Given the description of an element on the screen output the (x, y) to click on. 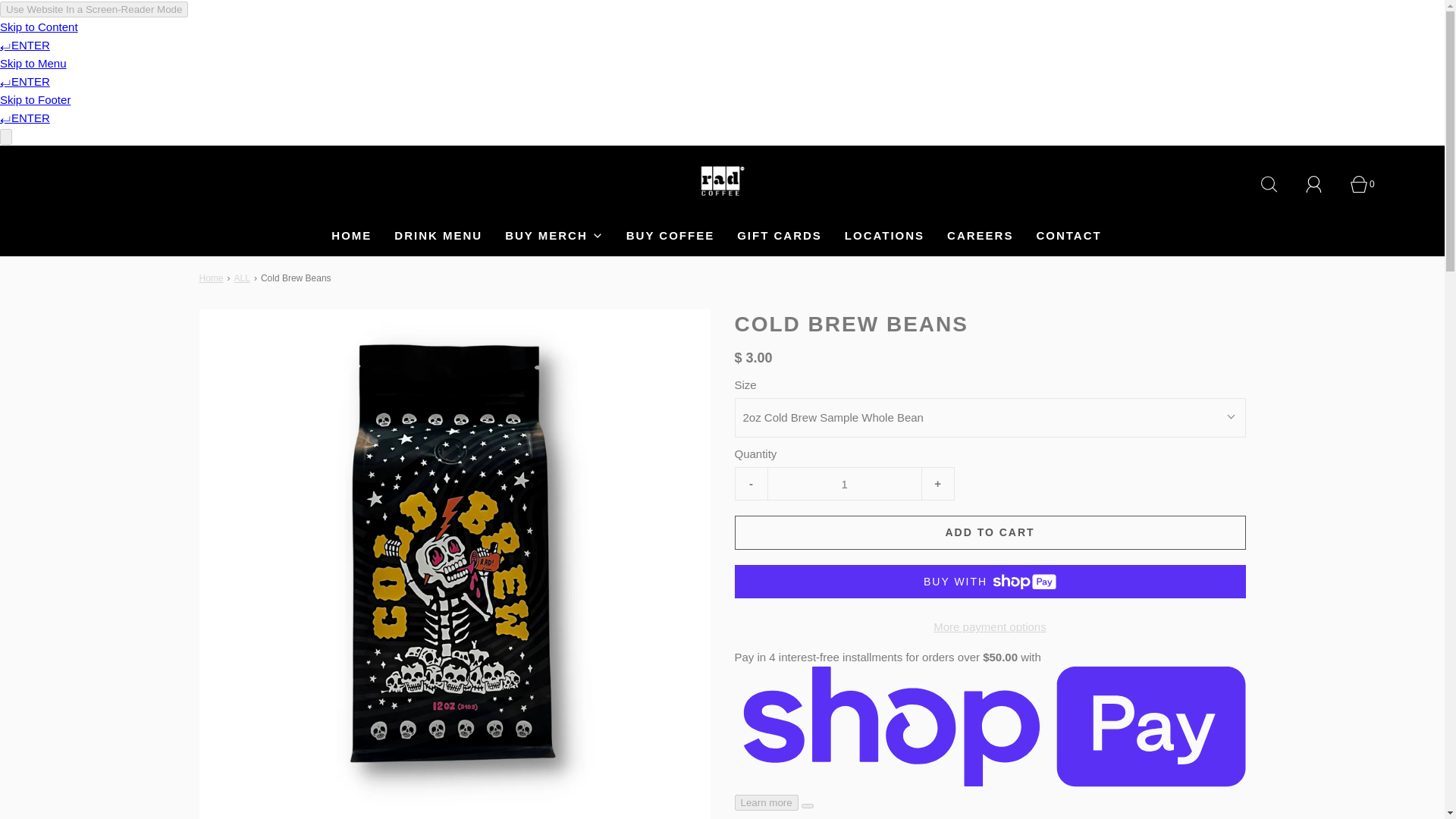
Cart (1367, 183)
Log in (1322, 183)
Back to the frontpage (212, 278)
Search (1277, 183)
1 (843, 483)
